Given the description of an element on the screen output the (x, y) to click on. 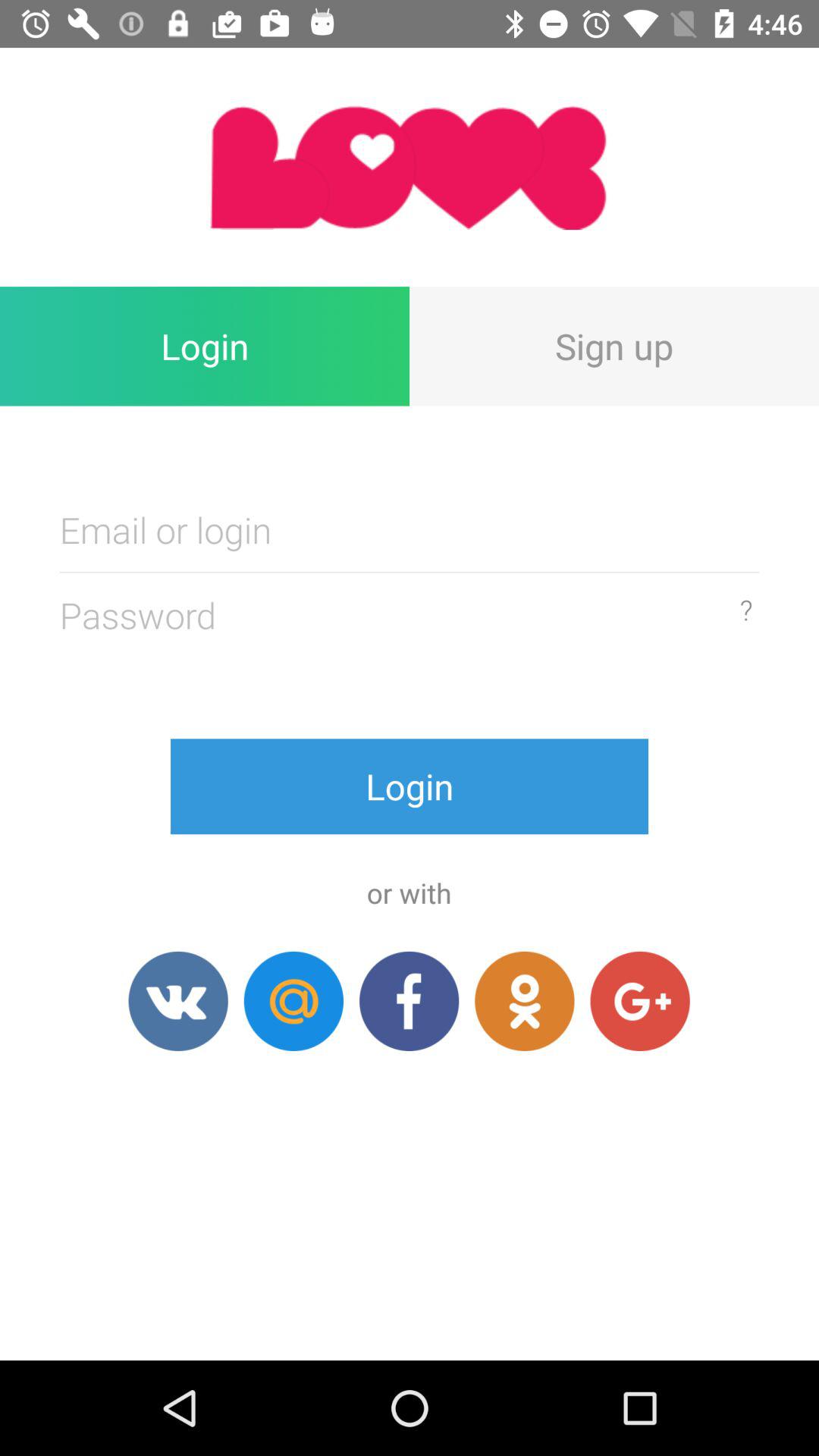
go to google plus (639, 1001)
